Given the description of an element on the screen output the (x, y) to click on. 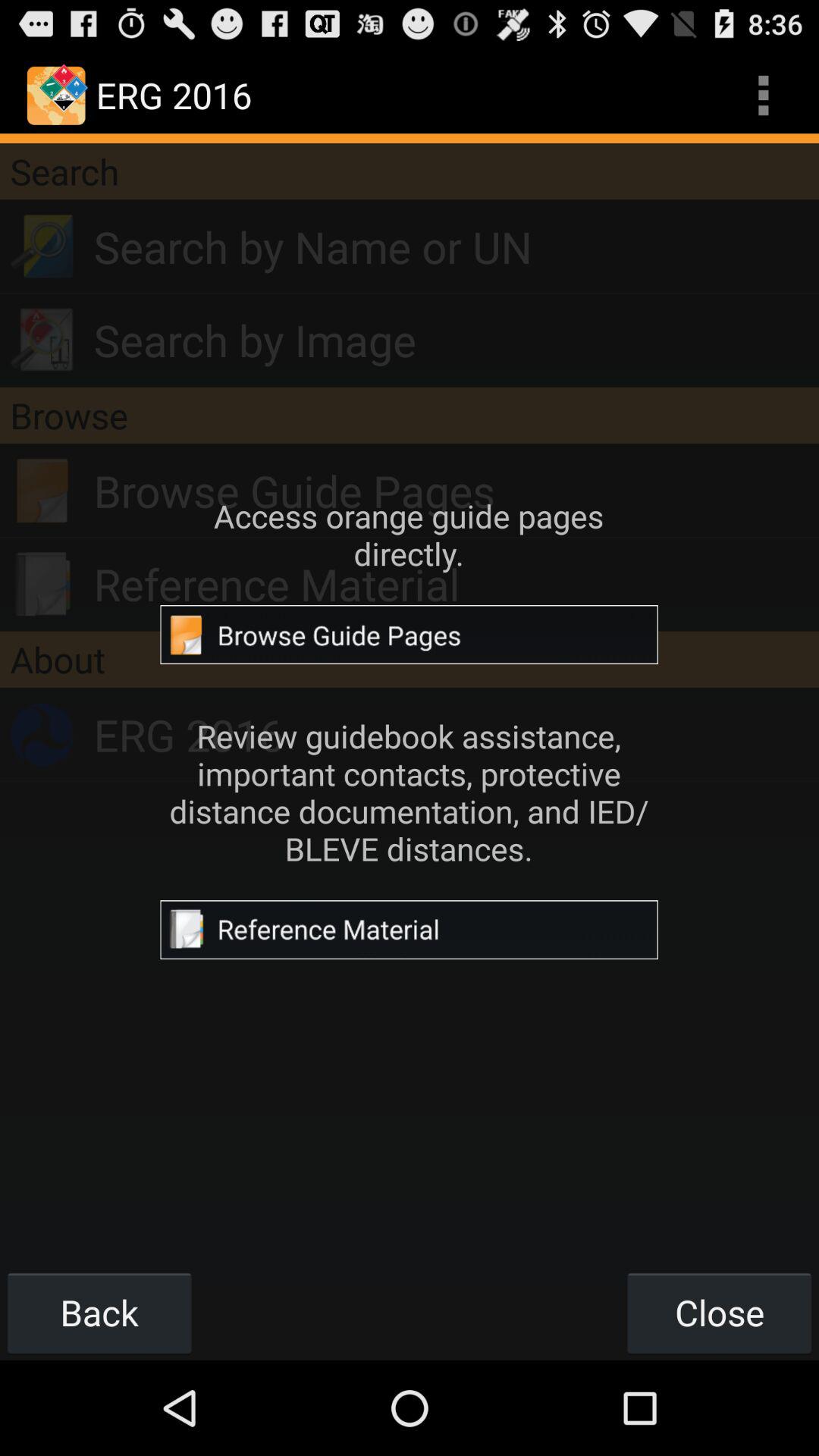
choose reference material icon (456, 584)
